Given the description of an element on the screen output the (x, y) to click on. 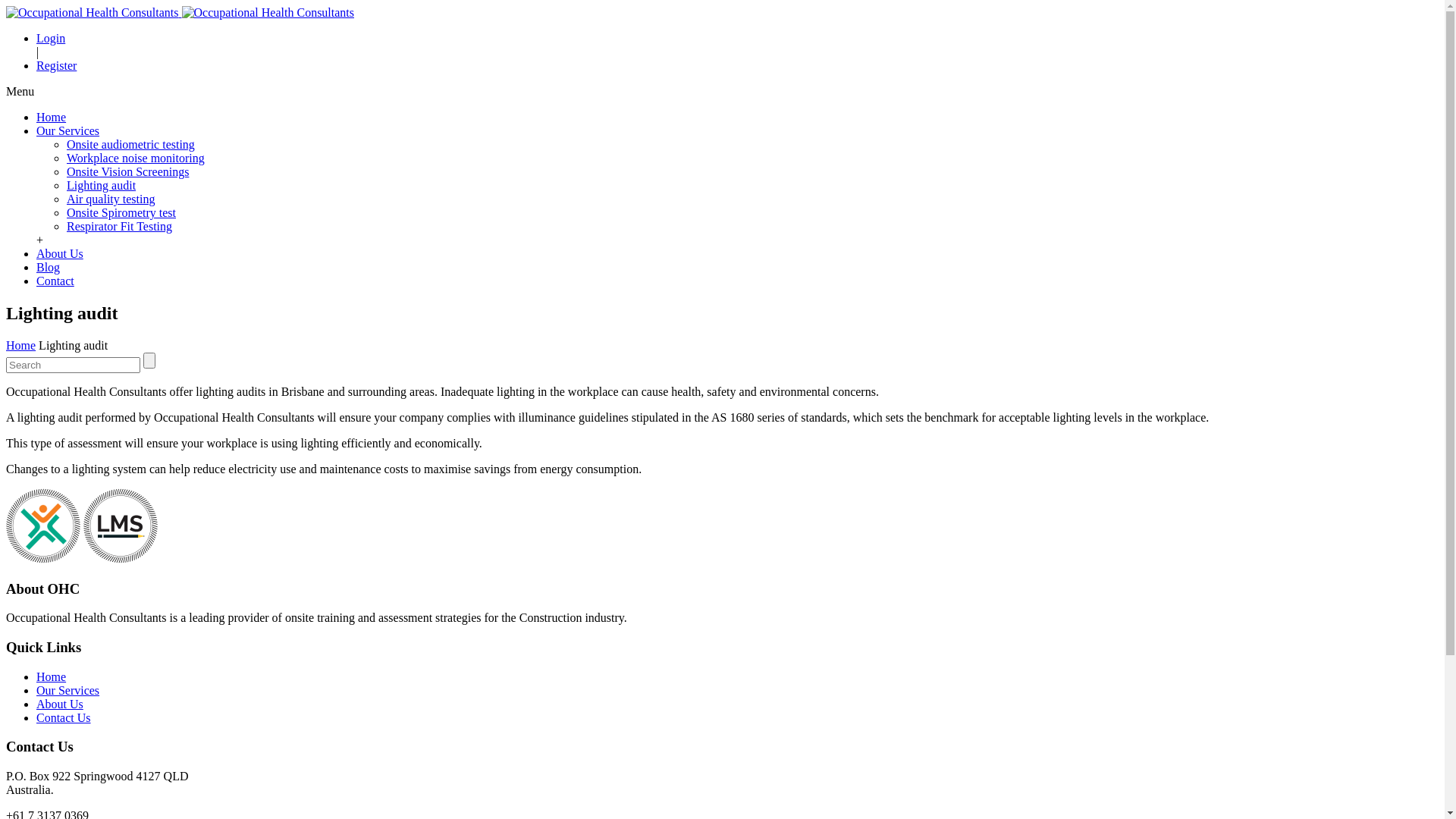
Onsite audiometric testing Element type: text (130, 144)
+ Element type: text (39, 239)
Blog Element type: text (47, 266)
Onsite Vision Screenings Element type: text (127, 171)
Onsite Spirometry test Element type: text (120, 212)
Occupational Health Consultants Element type: hover (268, 12)
Our Services Element type: text (67, 130)
Footer Logo Element type: hover (43, 525)
Respirator Fit Testing Element type: text (119, 225)
Occupational Health Consultants Element type: hover (92, 12)
Login Element type: text (50, 37)
Home Element type: text (20, 344)
Occupational Health Consultants Element type: hover (180, 12)
Workplace noise monitoring Element type: text (135, 157)
Contact Element type: text (55, 280)
Our Services Element type: text (67, 690)
Register Element type: text (56, 65)
Occupational Health Consultants Element type: hover (120, 525)
Home Element type: text (50, 676)
Lighting audit Element type: text (100, 184)
Air quality testing Element type: text (110, 198)
About Us Element type: text (59, 253)
About Us Element type: text (59, 703)
Home Element type: text (50, 116)
Contact Us Element type: text (63, 717)
